Given the description of an element on the screen output the (x, y) to click on. 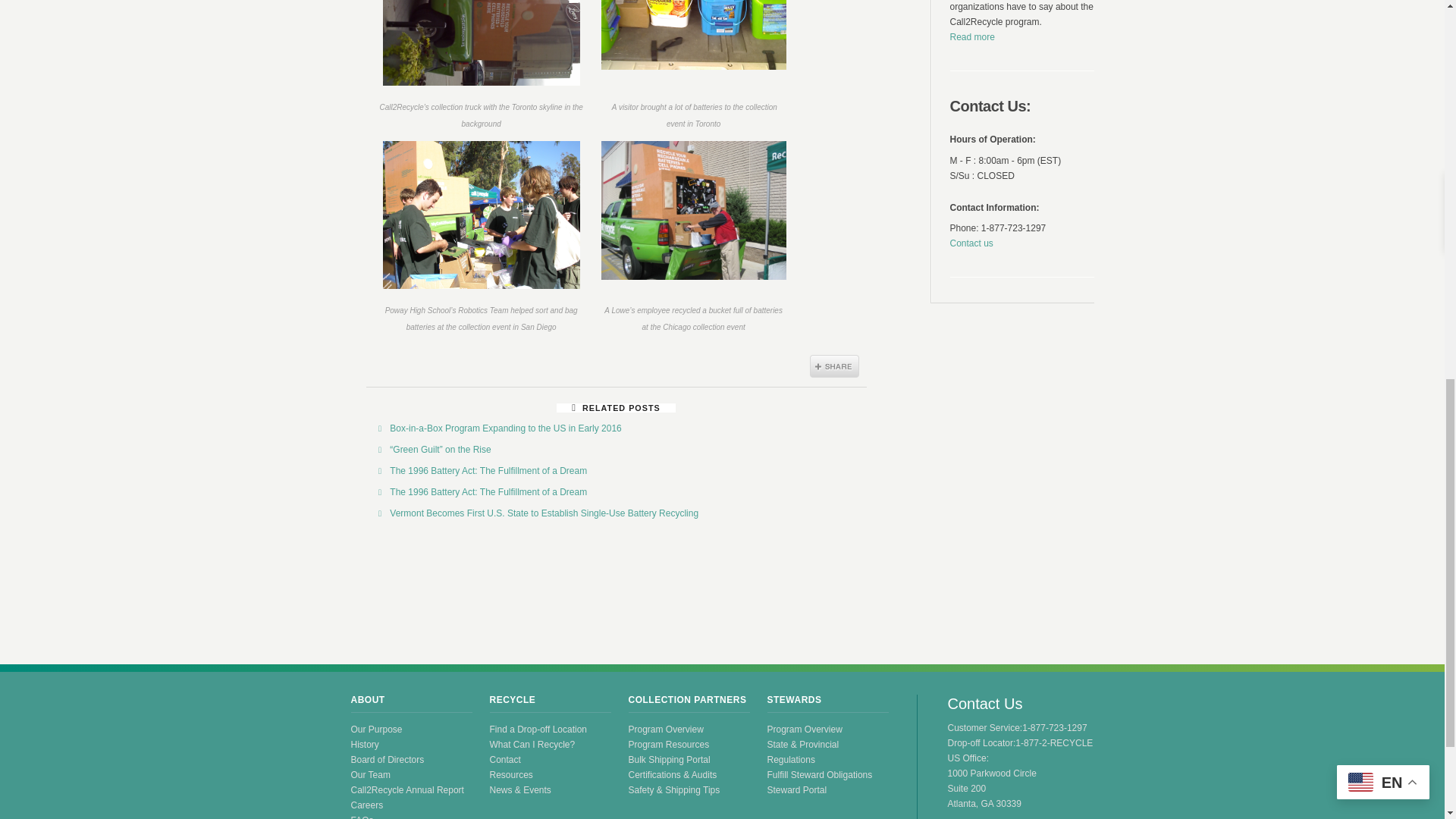
The 1996 Battery Act: The Fulfillment of a Dream (488, 491)
The 1996 Battery Act: The Fulfillment of a Dream (488, 470)
Box-in-a-Box Program Expanding to the US in Early 2016 (505, 428)
